Given the description of an element on the screen output the (x, y) to click on. 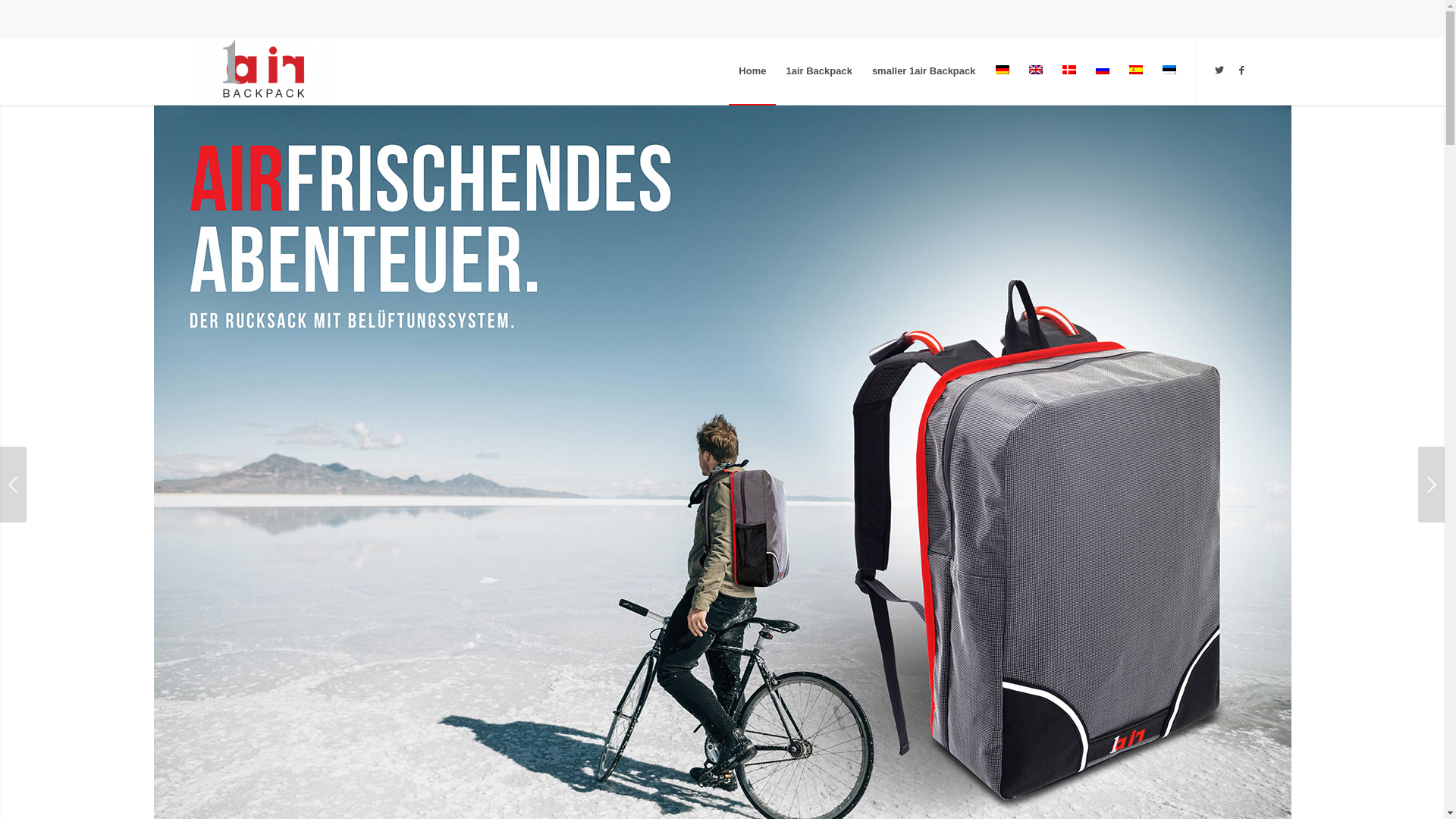
smaller 1air Backpack Element type: text (923, 70)
Eesti Element type: hover (1168, 69)
English Element type: hover (1034, 69)
Previous Element type: text (13, 484)
1air Backpack Element type: text (818, 70)
Next Element type: text (1431, 484)
Dansk Element type: hover (1068, 69)
Home Element type: text (751, 70)
Deutsch Element type: hover (1001, 69)
Twitter Element type: hover (1218, 70)
Facebook Element type: hover (1241, 70)
